Given the description of an element on the screen output the (x, y) to click on. 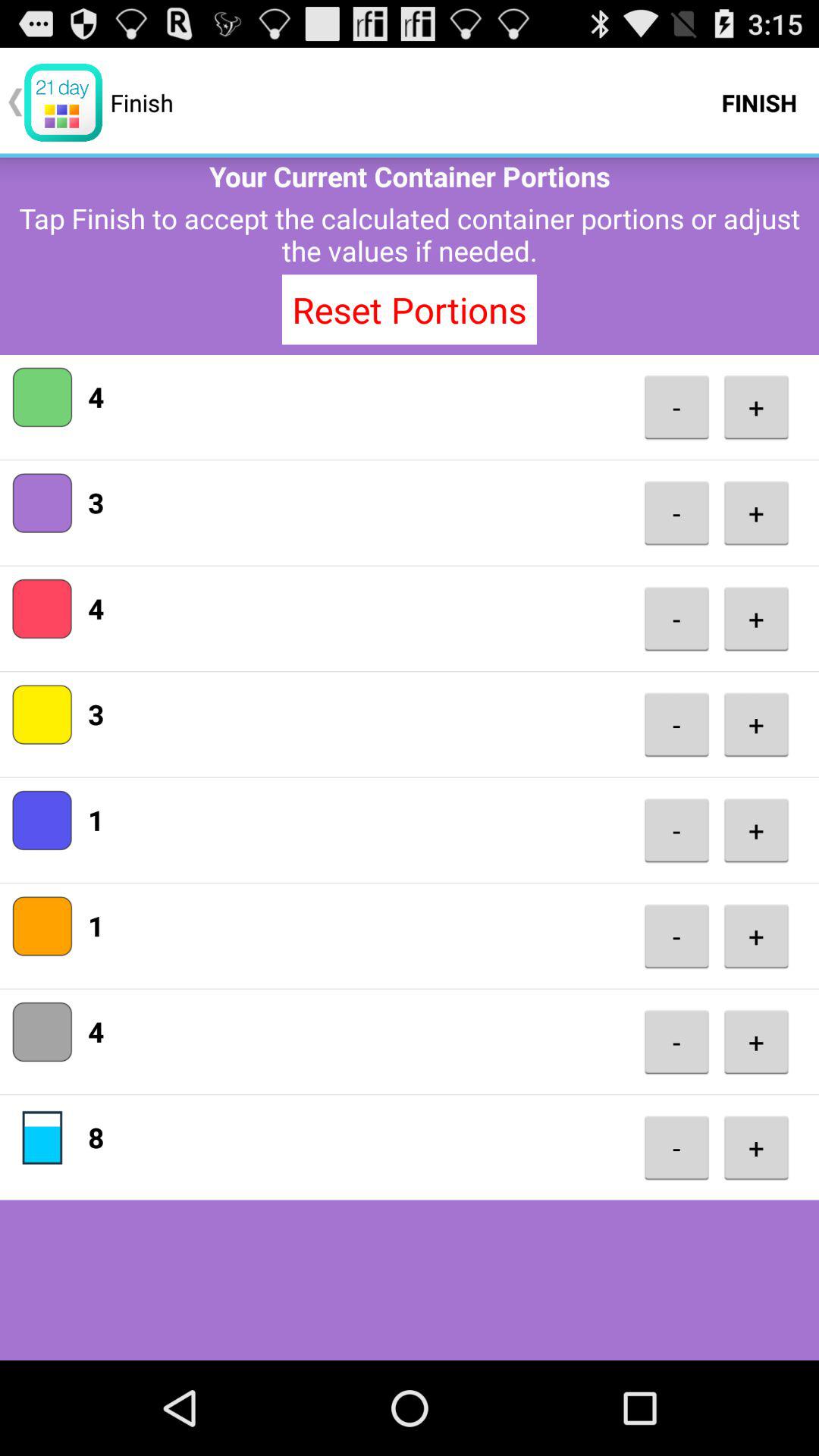
turn off the icon below - item (756, 512)
